Given the description of an element on the screen output the (x, y) to click on. 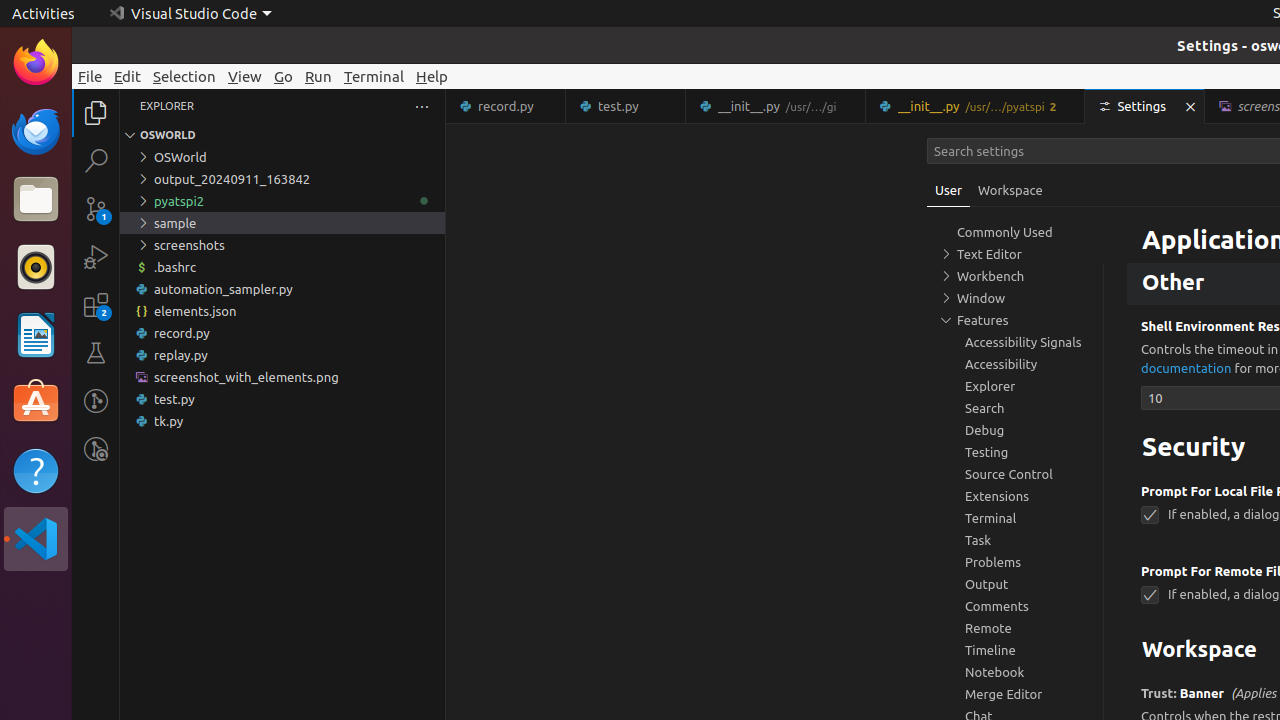
__init__.py Element type: page-tab (975, 106)
Terminal, group Element type: tree-item (1015, 518)
security.promptForRemoteFileProtocolHandling Element type: check-box (1150, 595)
.bashrc Element type: tree-item (282, 267)
Explorer, group Element type: tree-item (1015, 386)
